Given the description of an element on the screen output the (x, y) to click on. 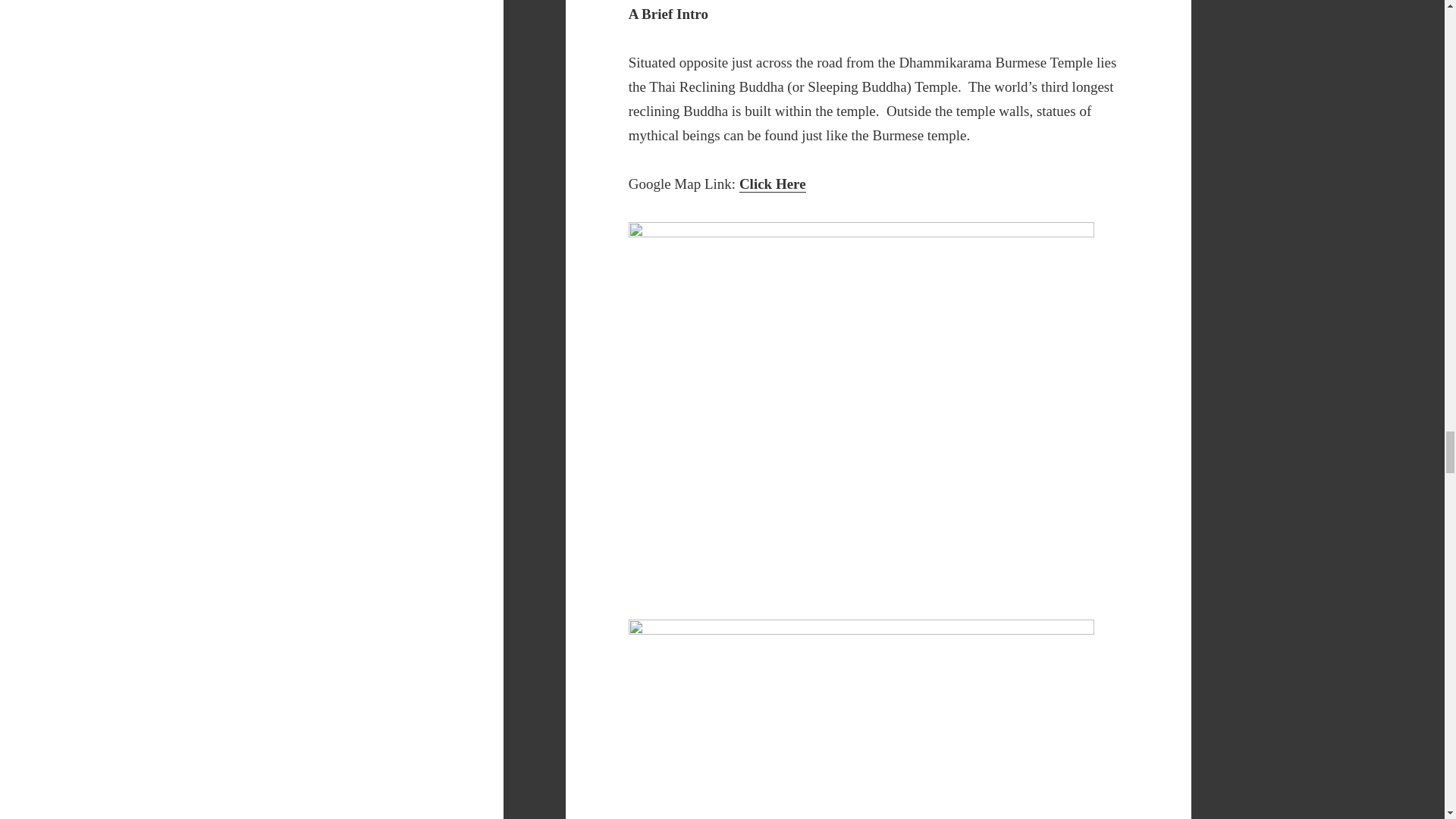
Click Here (772, 184)
The Sleeping Buddha (861, 718)
